Given the description of an element on the screen output the (x, y) to click on. 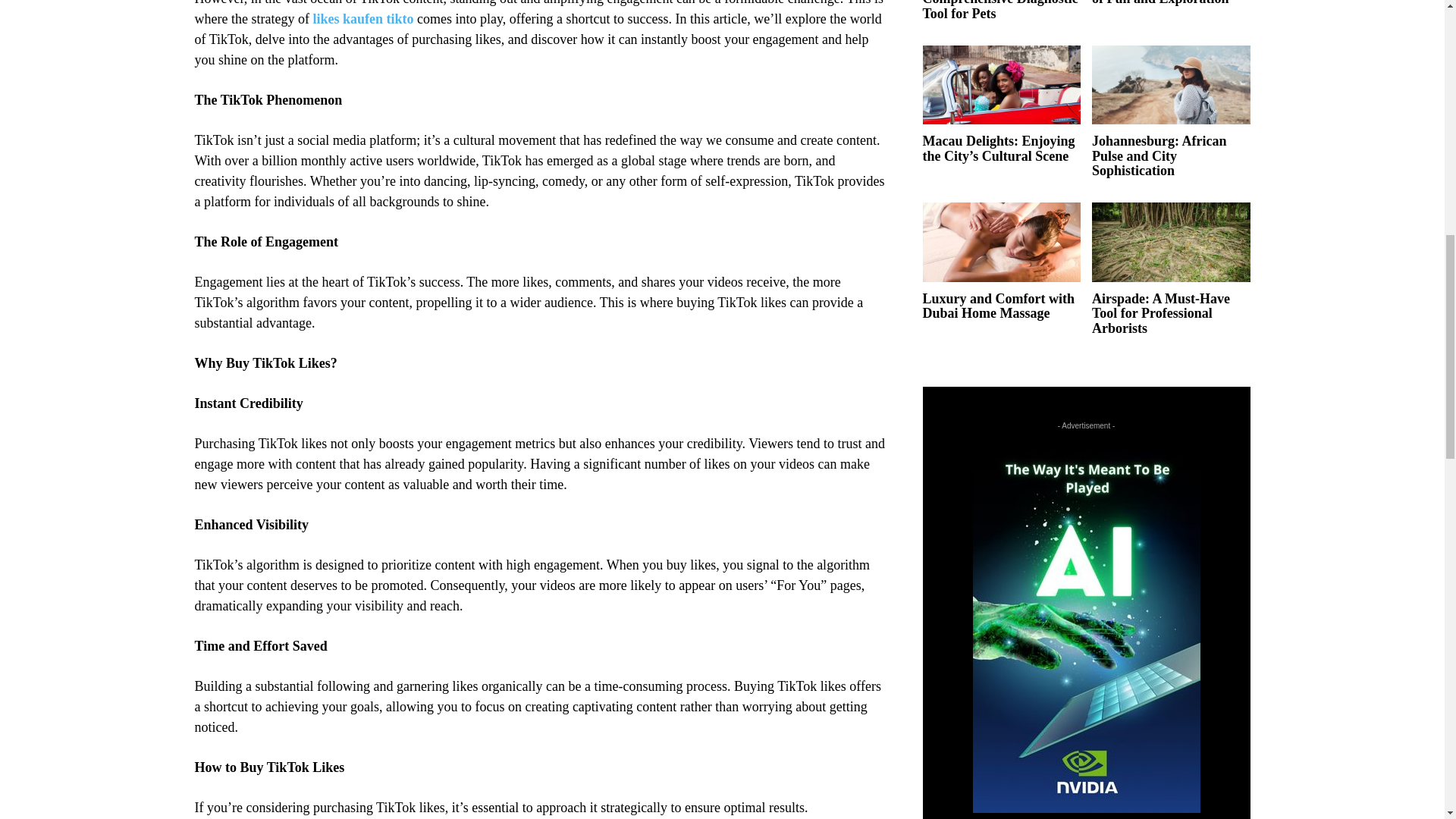
Abdominal Ultrasound: Comprehensive Diagnostic Tool for Pets (999, 10)
Tokyo Thrills: A Journey of Fun and Exploration (1165, 2)
